Given the description of an element on the screen output the (x, y) to click on. 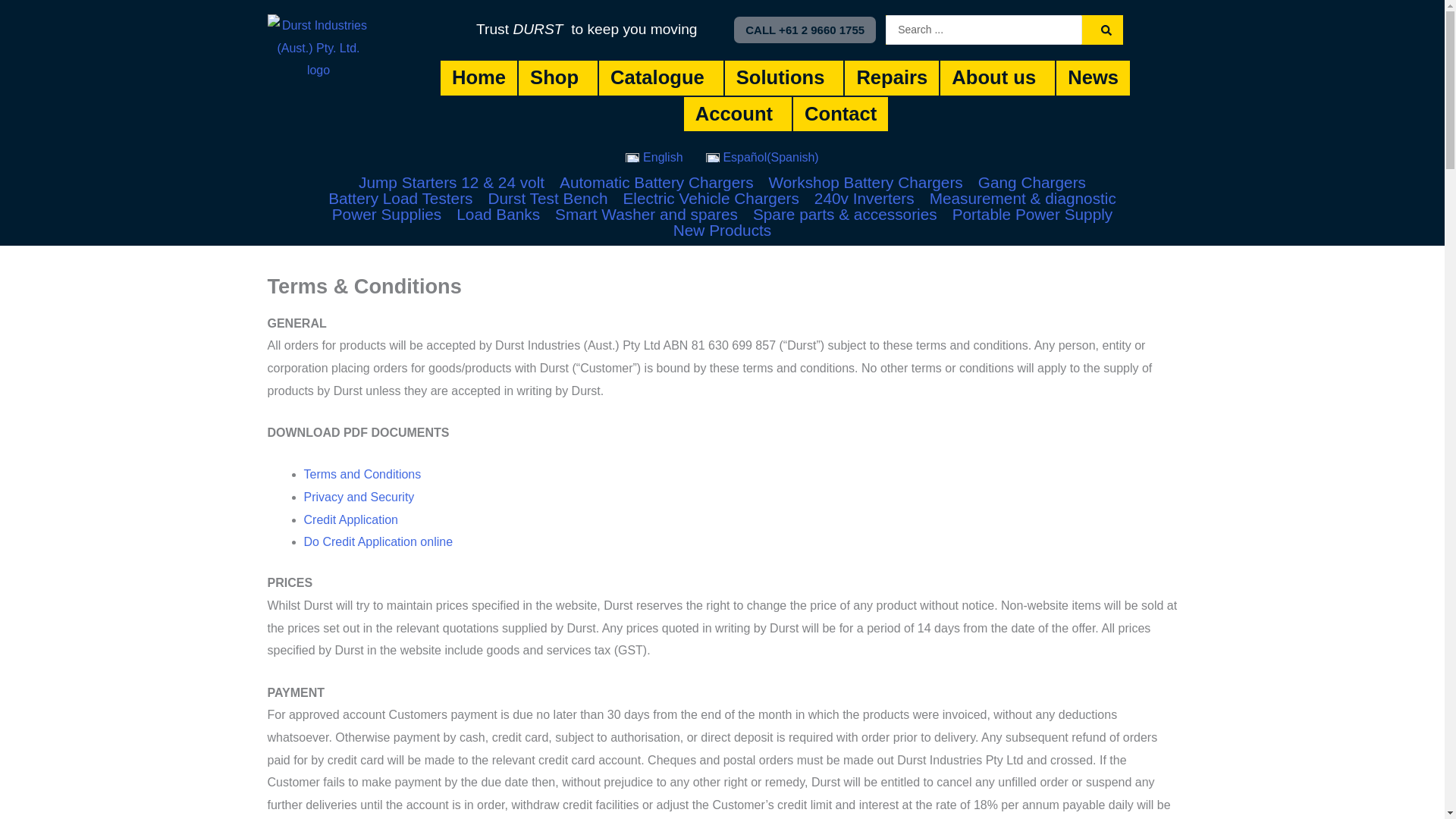
Spanish (761, 157)
English (654, 157)
